Given the description of an element on the screen output the (x, y) to click on. 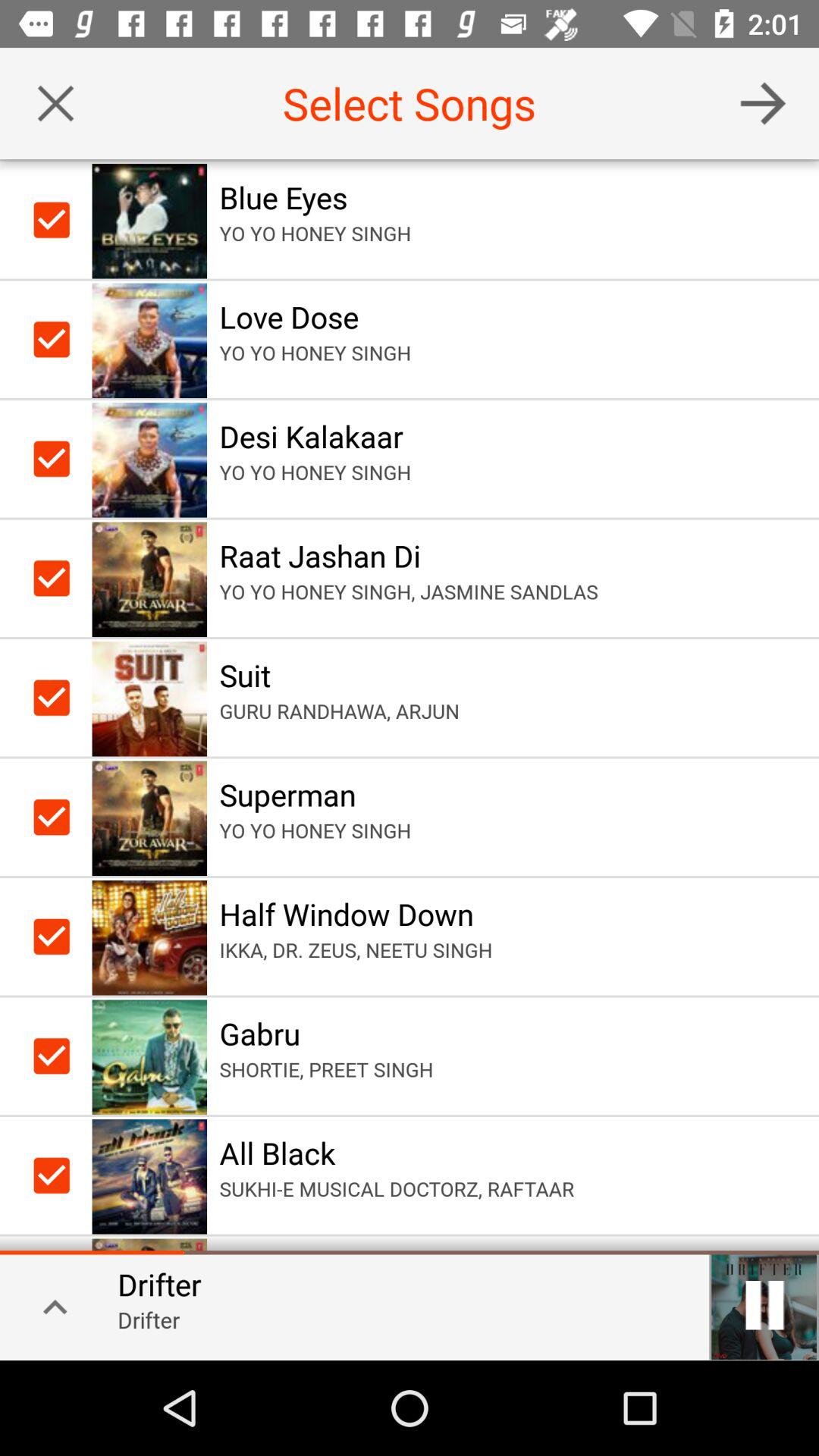
good app to listen songs (763, 103)
